Given the description of an element on the screen output the (x, y) to click on. 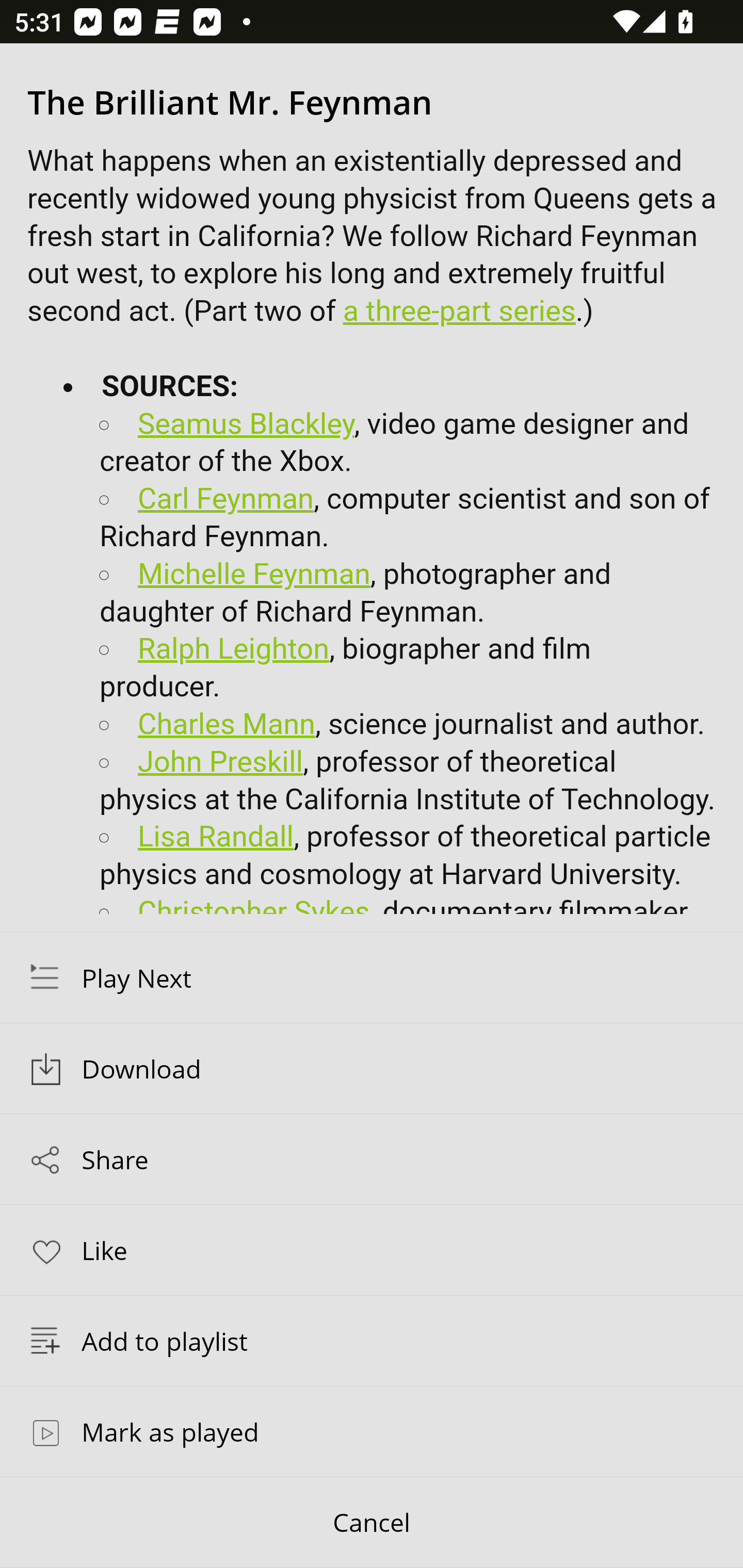
a three-part series (458, 312)
Seamus Blackley (246, 424)
Carl Feynman (225, 499)
Michelle Feynman (254, 573)
Ralph Leighton (233, 649)
Charles Mann (226, 723)
John Preskill (220, 761)
Lisa Randall (215, 836)
Play Next (371, 977)
Download (371, 1068)
Share (371, 1159)
Like (371, 1249)
Add to playlist (371, 1340)
Mark as played (371, 1431)
Cancel (371, 1522)
